Given the description of an element on the screen output the (x, y) to click on. 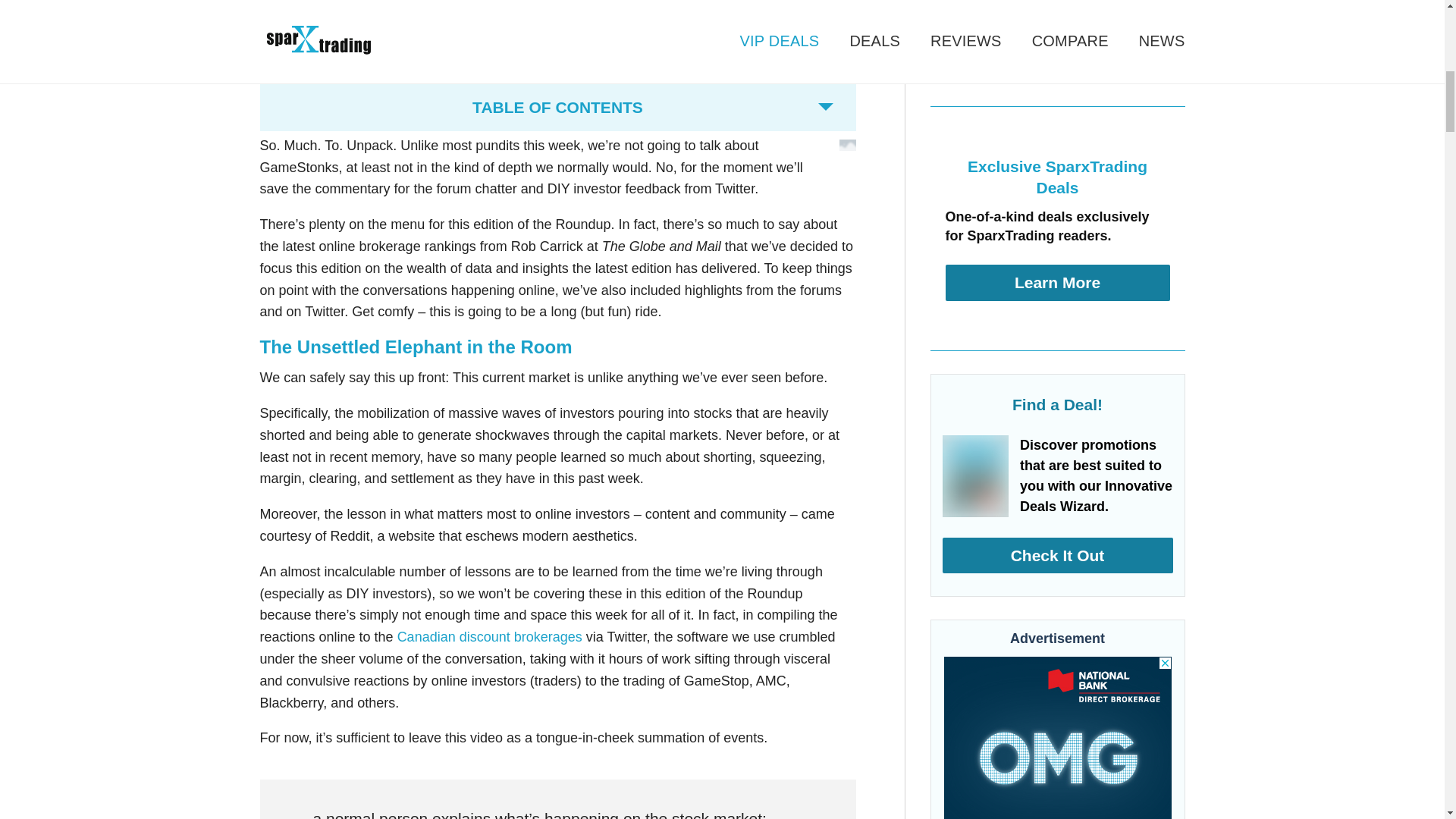
3rd party ad content (1056, 737)
